Given the description of an element on the screen output the (x, y) to click on. 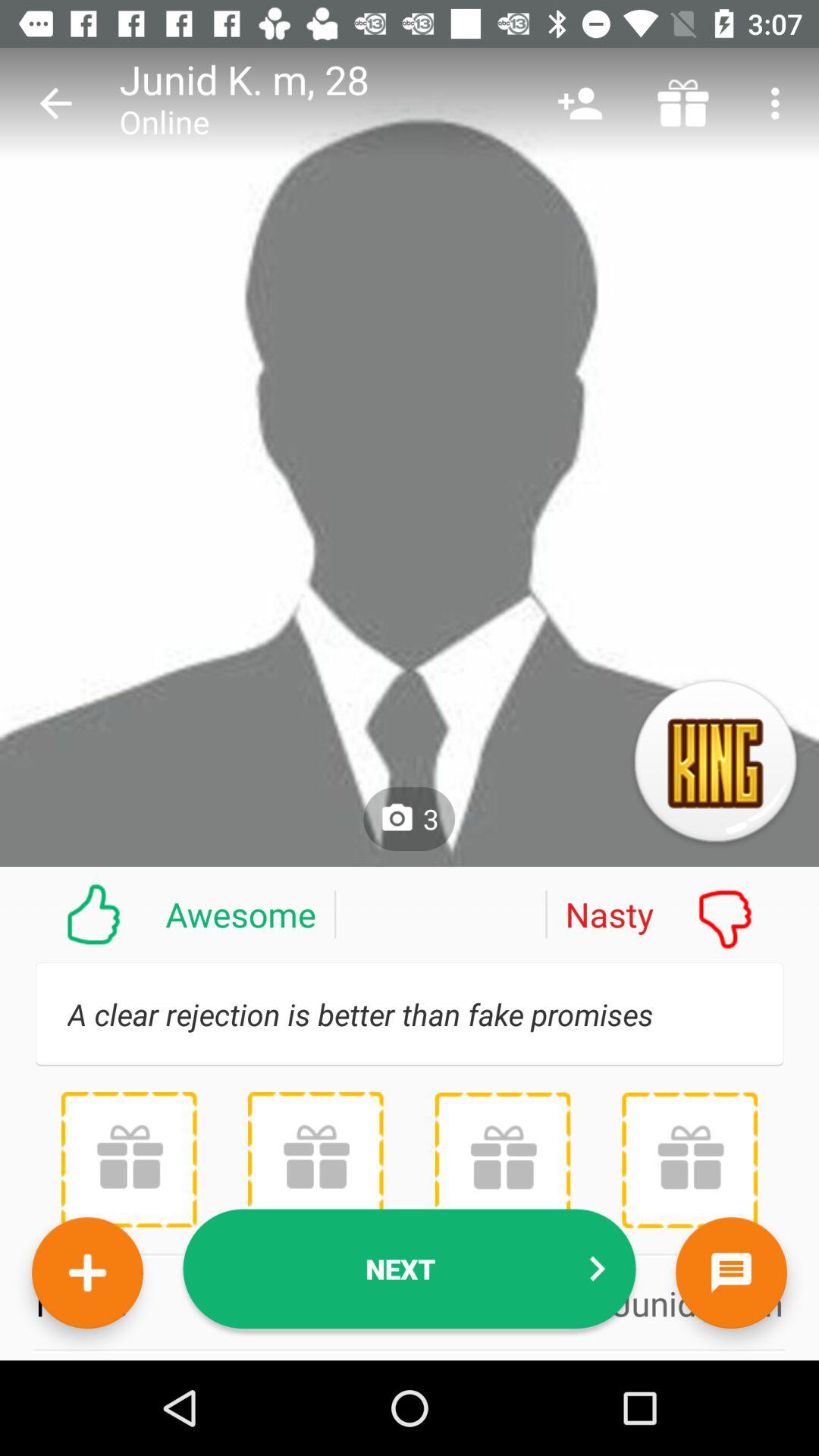
turn on item next to junid k. (55, 103)
